Given the description of an element on the screen output the (x, y) to click on. 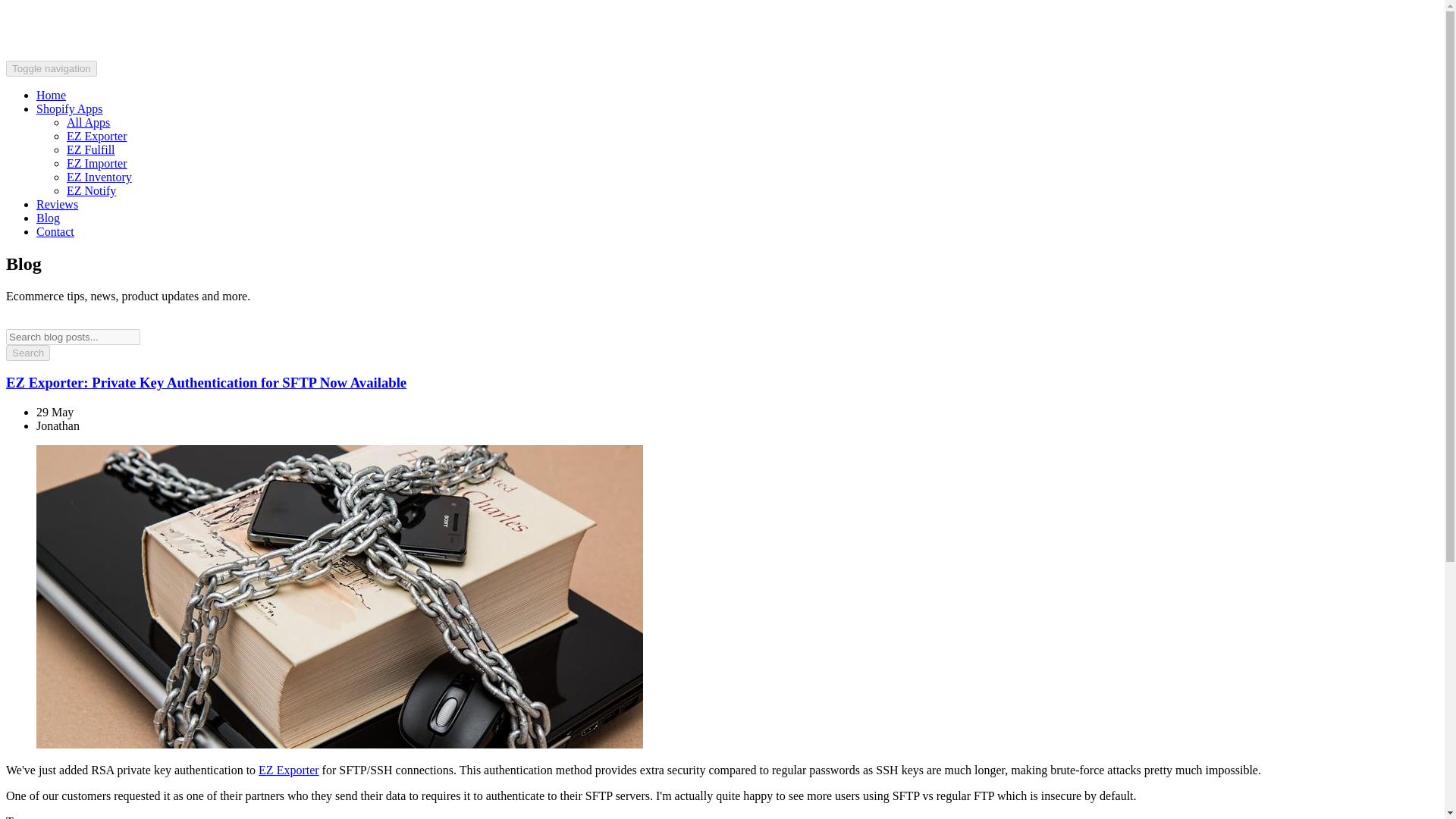
Shopify Apps (69, 108)
EZ Fulfill (90, 149)
EZ Importer (97, 163)
EZ Exporter (97, 135)
Reviews (57, 204)
Home (50, 94)
Search (27, 352)
EZ Inventory (99, 176)
Blog (47, 217)
Toggle navigation (51, 68)
EZ Notify (91, 190)
Contact (55, 231)
All Apps (88, 122)
EZ Exporter (288, 769)
